Given the description of an element on the screen output the (x, y) to click on. 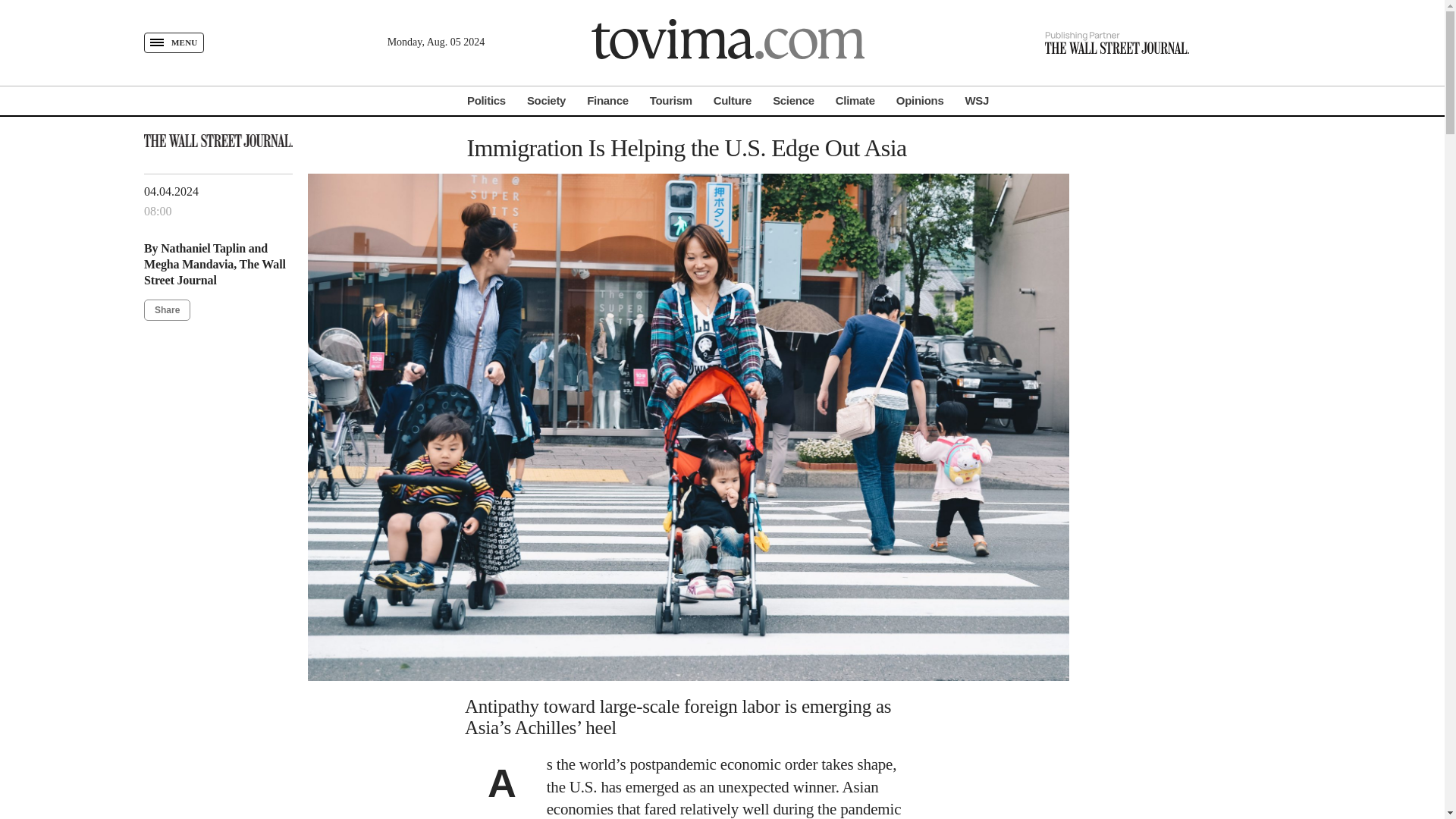
Science (793, 100)
Culture (732, 100)
Opinions (919, 100)
tovima.com (727, 42)
Politics (486, 100)
WSJ (975, 100)
Tourism (671, 100)
Finance (607, 100)
Climate (855, 100)
Society (546, 100)
